Given the description of an element on the screen output the (x, y) to click on. 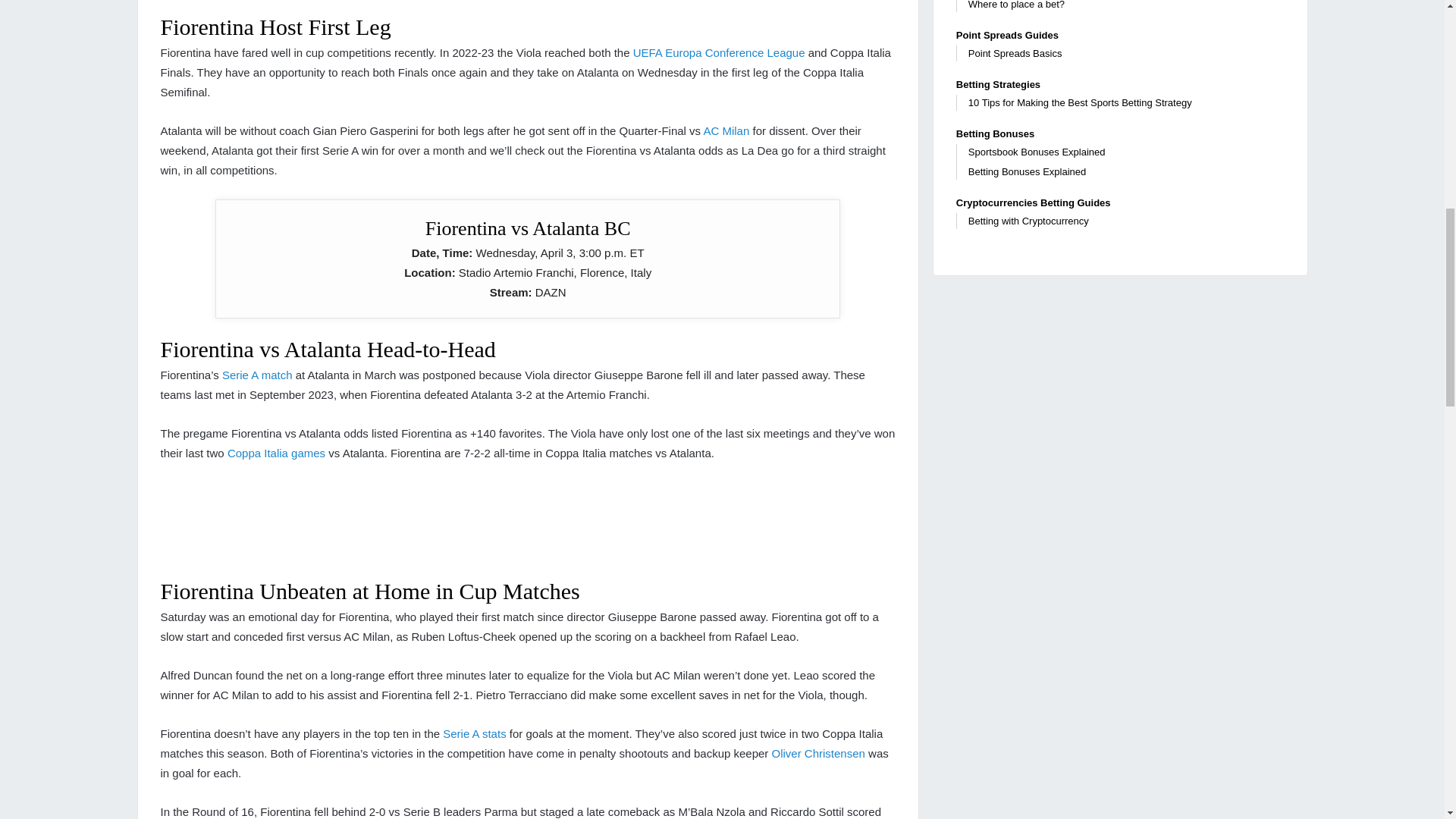
Serie A Players (473, 733)
AC Milan (726, 130)
Coppa Italia (275, 452)
UEFA Conference League (719, 51)
